Given the description of an element on the screen output the (x, y) to click on. 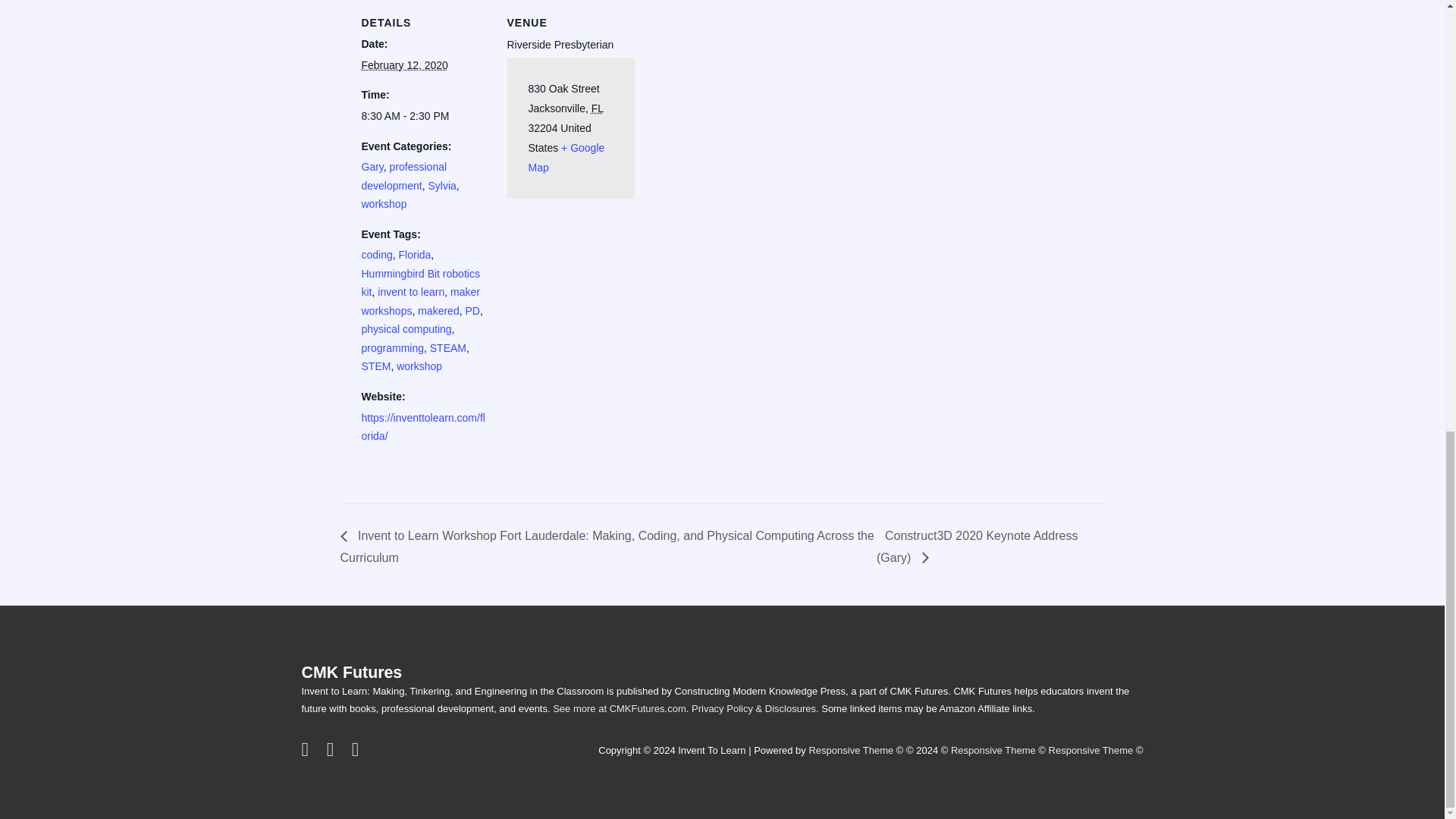
programming (392, 347)
Hummingbird Bit robotics kit (420, 282)
workshop (419, 366)
STEAM (447, 347)
Click to view a Google Map (565, 157)
linkedin (357, 752)
coding (376, 254)
Gary (371, 166)
Sylvia (441, 185)
